Given the description of an element on the screen output the (x, y) to click on. 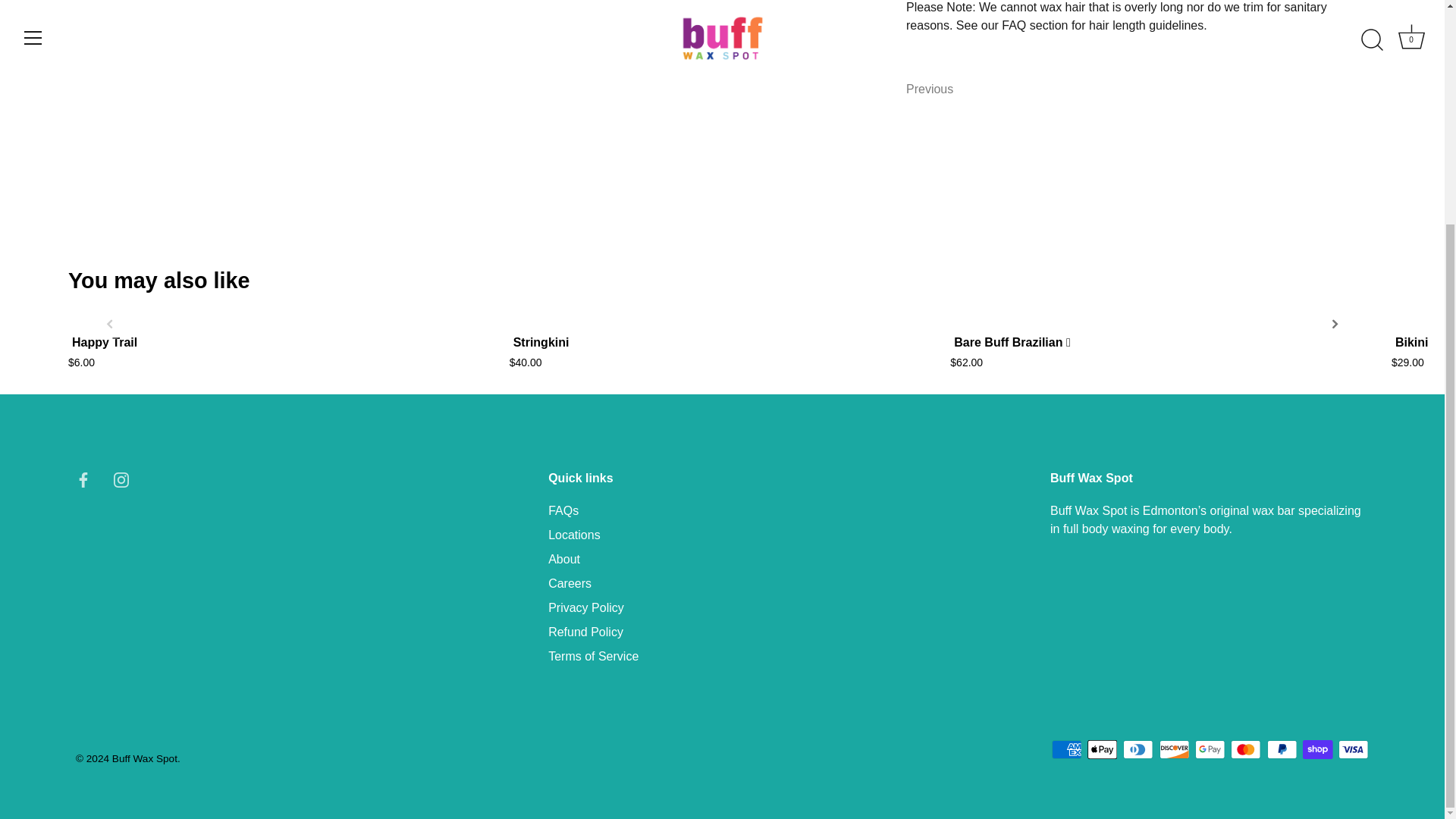
Discover (1173, 749)
PayPal (1281, 749)
Mastercard (1245, 749)
Diners Club (1137, 749)
The Buff Vajacial (929, 88)
Previous (929, 88)
American Express (1066, 749)
Shop Pay (1317, 749)
Google Pay (1209, 749)
Instagram (121, 479)
Apple Pay (1101, 749)
Visa (1353, 749)
